Given the description of an element on the screen output the (x, y) to click on. 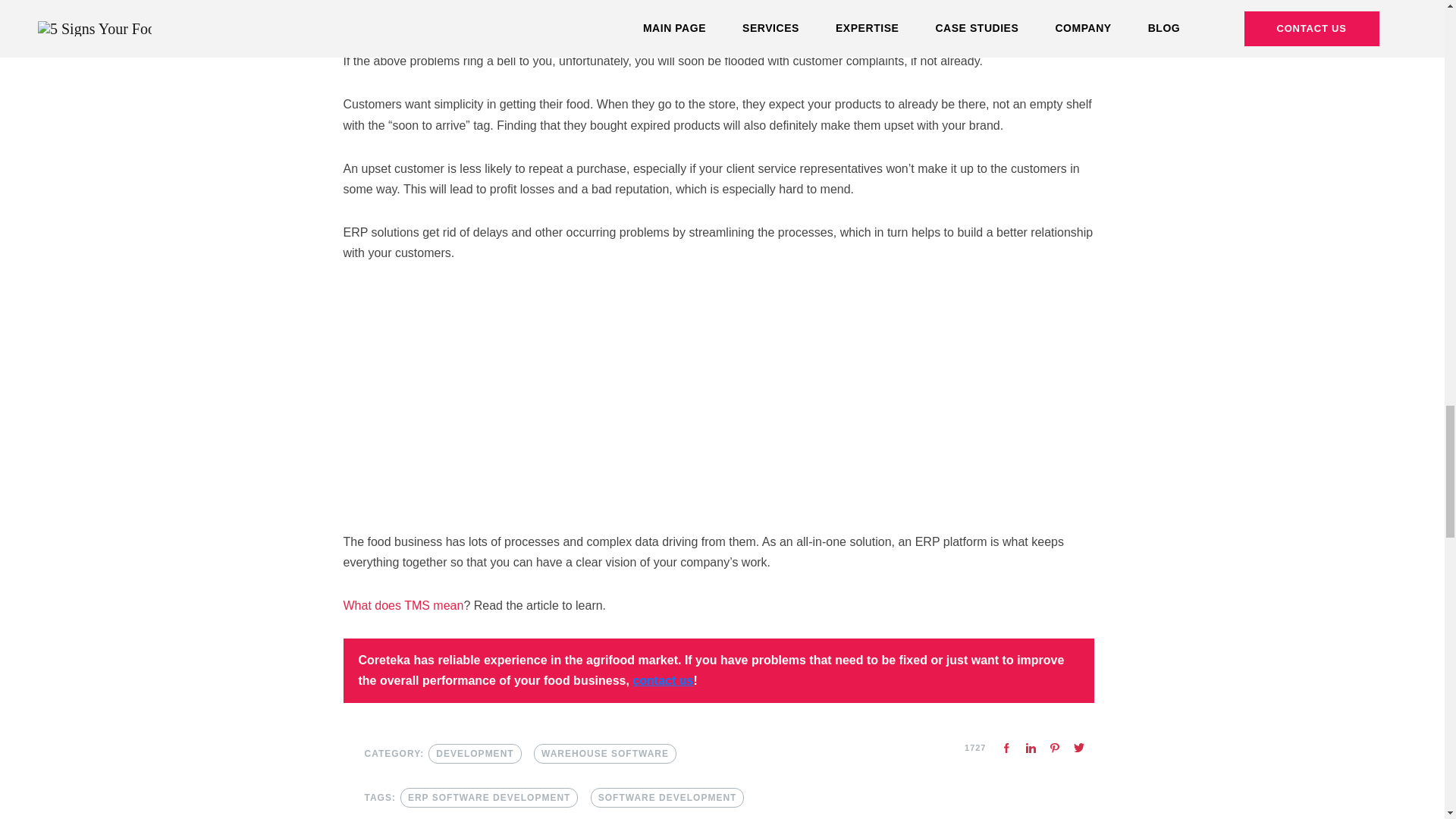
SOFTWARE DEVELOPMENT (667, 797)
DEVELOPMENT (474, 753)
WAREHOUSE SOFTWARE (605, 753)
ERP SOFTWARE DEVELOPMENT (489, 797)
What does TMS mean (402, 604)
contact us (662, 680)
